Given the description of an element on the screen output the (x, y) to click on. 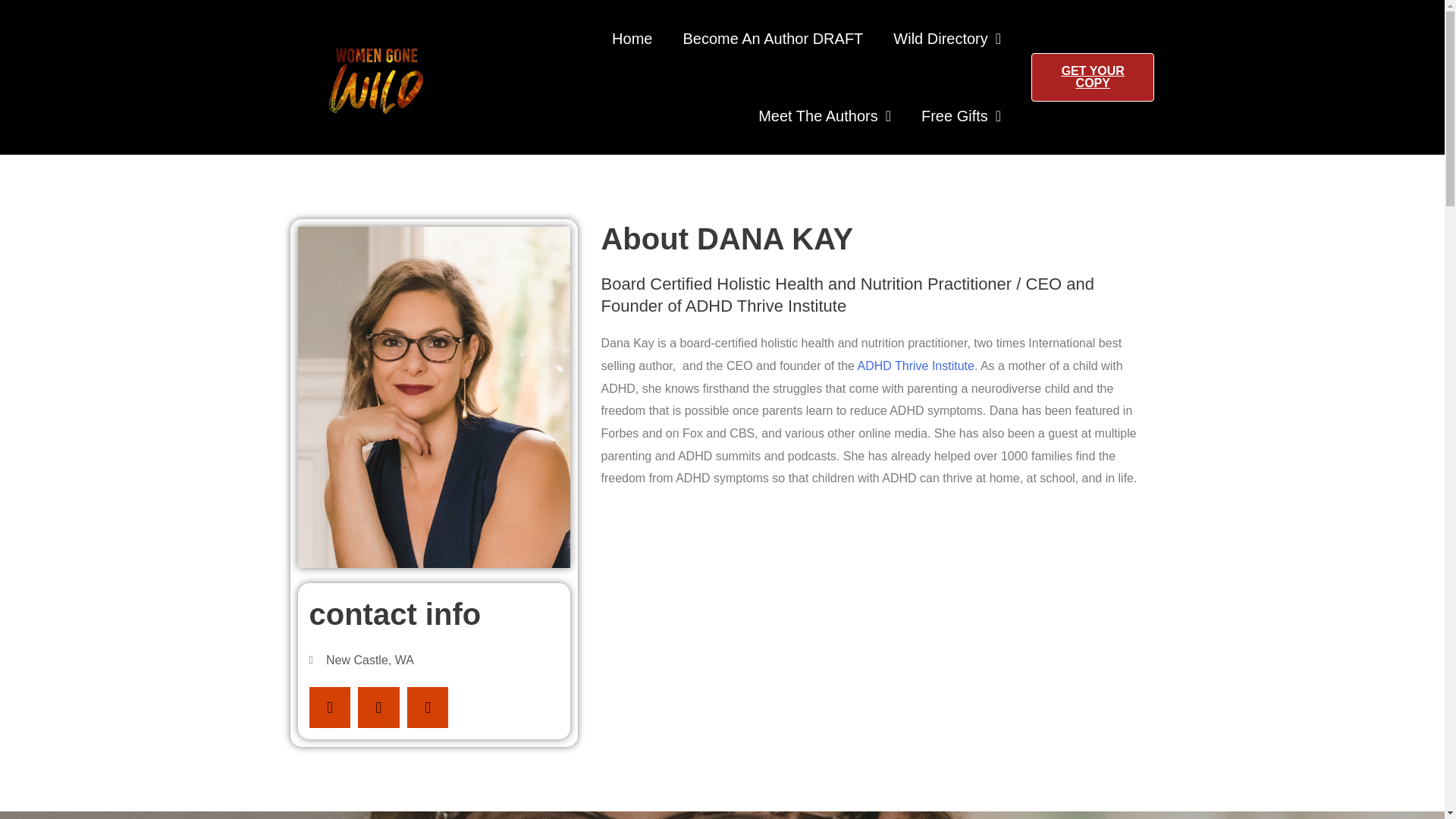
Become An Author DRAFT (771, 38)
Envelope (329, 707)
Home (631, 38)
Whatsapp (427, 707)
GET YOUR COPY (1092, 77)
ADHD Thrive Institute (915, 365)
Wild Directory (946, 38)
Meet The Authors (823, 115)
Free Gifts (960, 115)
Im-instagram (378, 707)
